Given the description of an element on the screen output the (x, y) to click on. 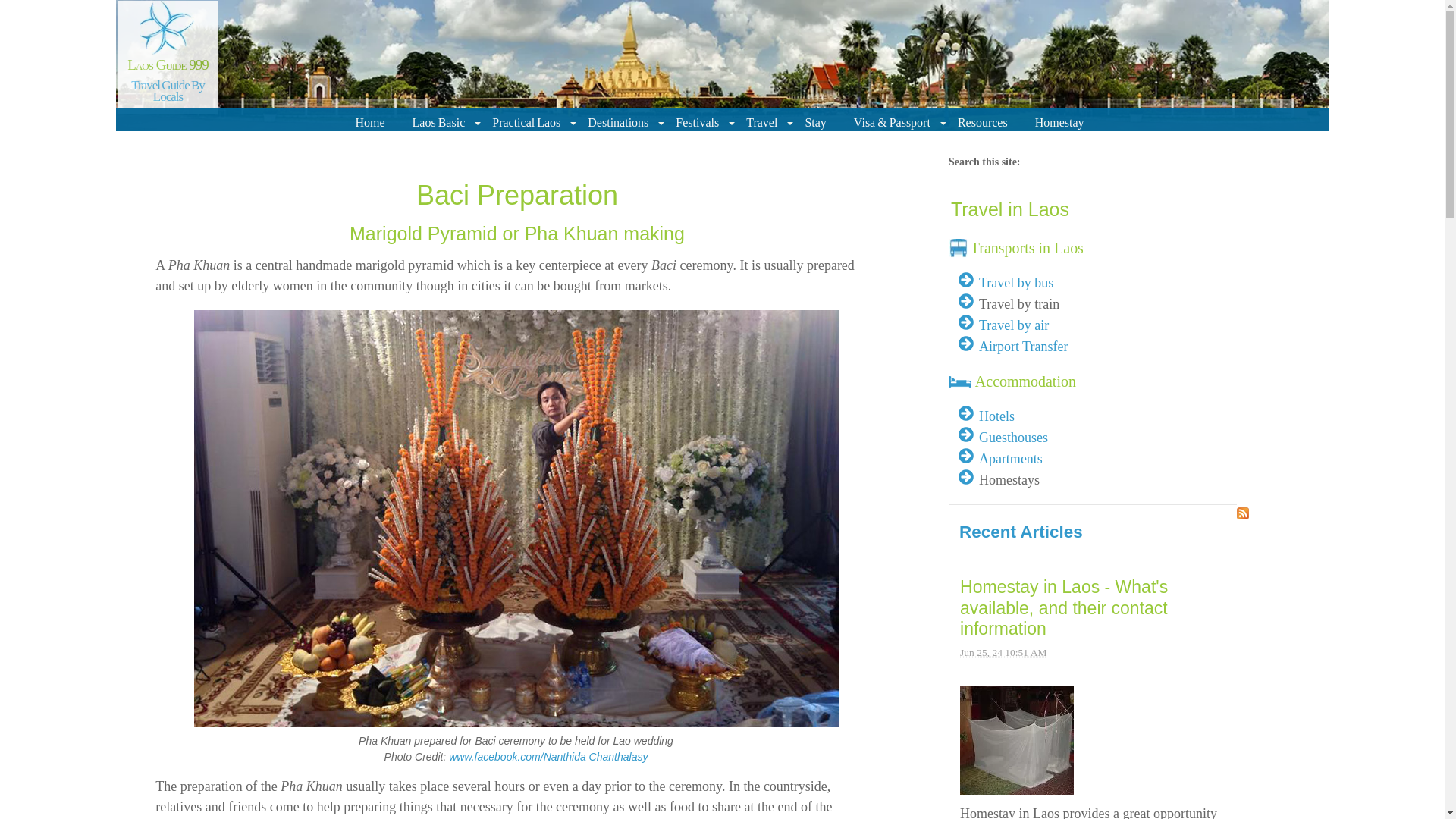
2024-06-25T10:51:47-0400 (1002, 645)
Resources (986, 122)
Laos Guide 999 (168, 64)
Stay (818, 122)
Home (372, 122)
Homestay (1062, 122)
